Given the description of an element on the screen output the (x, y) to click on. 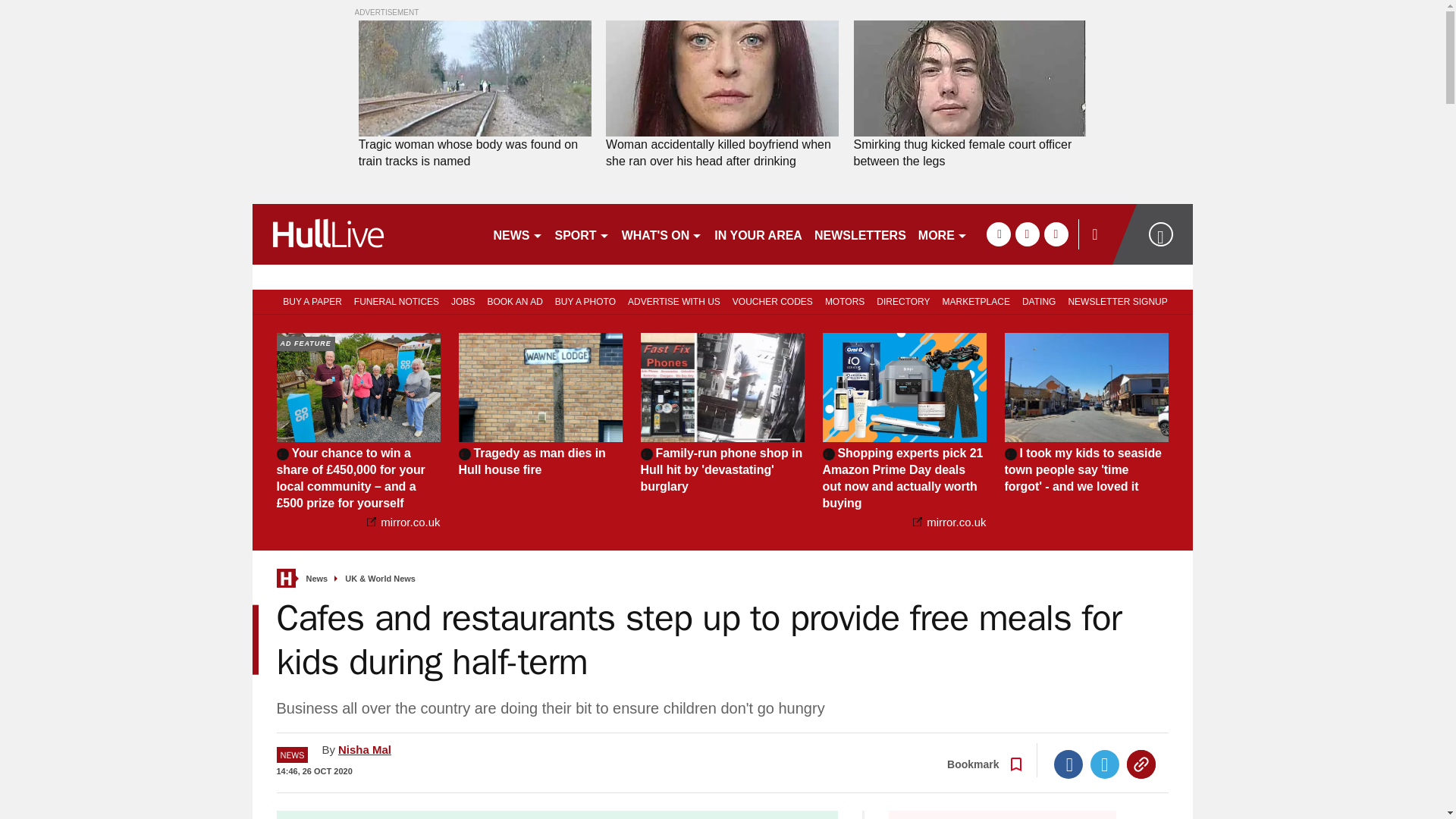
Smirking thug kicked female court officer between the legs (969, 78)
Tragic woman whose body was found on train tracks is named (474, 152)
IN YOUR AREA (757, 233)
Facebook (1068, 764)
instagram (1055, 233)
Smirking thug kicked female court officer between the legs (969, 152)
Twitter (1104, 764)
NEWS (517, 233)
NEWSLETTERS (860, 233)
Tragic woman whose body was found on train tracks is named (474, 152)
hulldailymail (365, 233)
SPORT (581, 233)
Smirking thug kicked female court officer between the legs (969, 152)
